Given the description of an element on the screen output the (x, y) to click on. 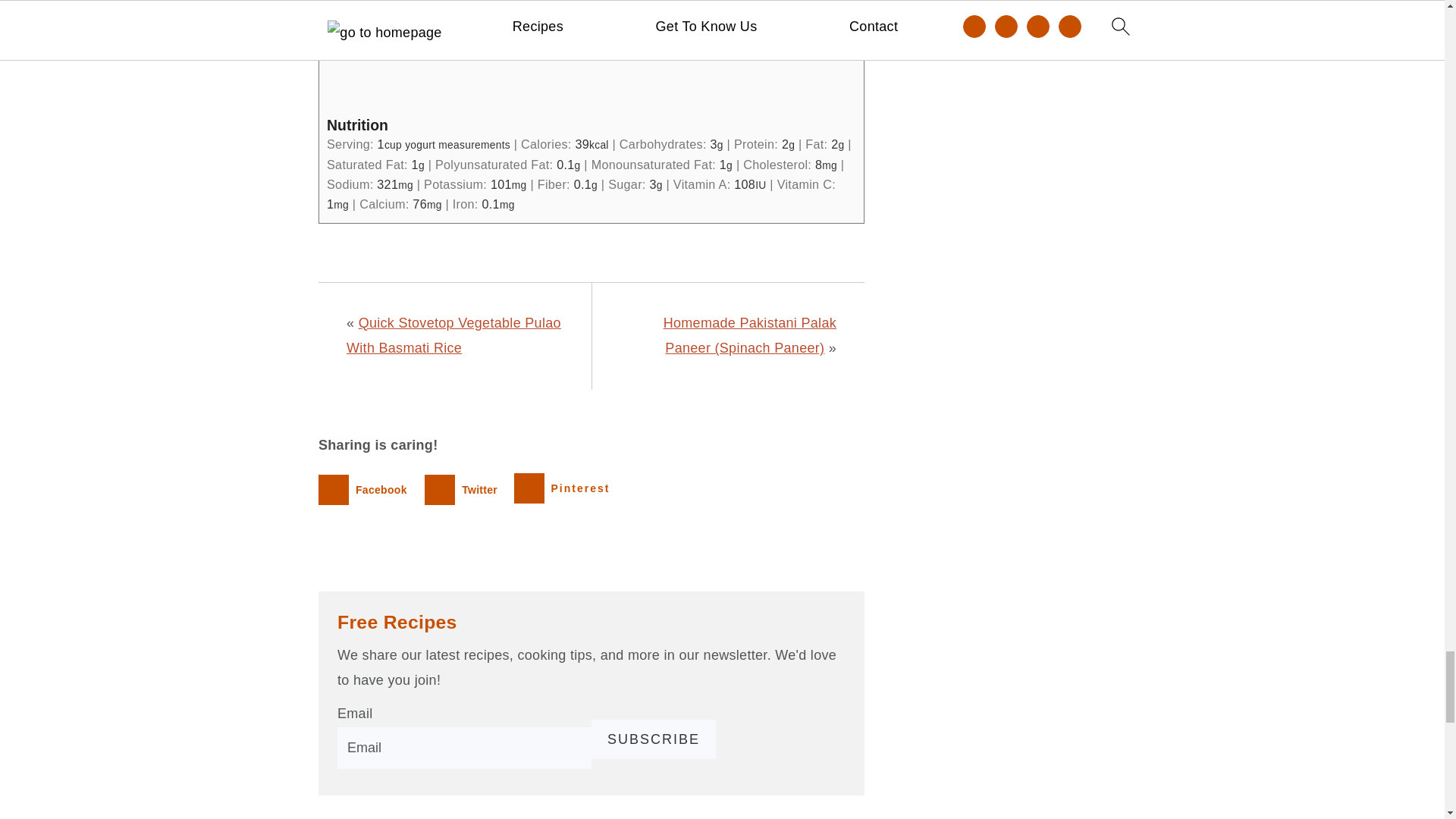
Save to Pinterest (565, 490)
Share on Facebook (365, 490)
Share on X (464, 490)
Quick 5- Minute Boondi Raita (591, 47)
